Given the description of an element on the screen output the (x, y) to click on. 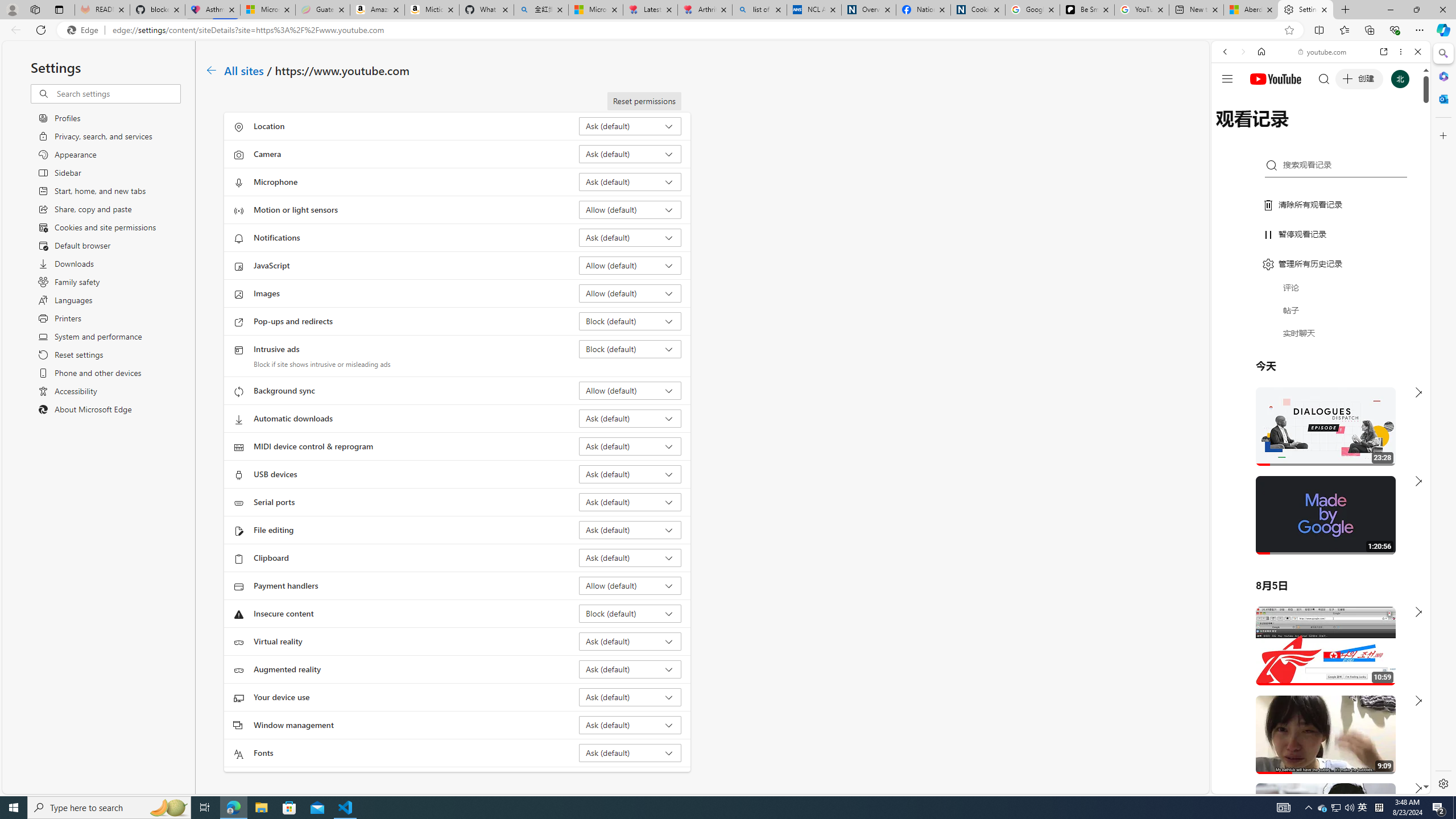
Cookies (978, 9)
Location Ask (default) (630, 126)
you (1315, 755)
USB devices Ask (default) (630, 474)
